Given the description of an element on the screen output the (x, y) to click on. 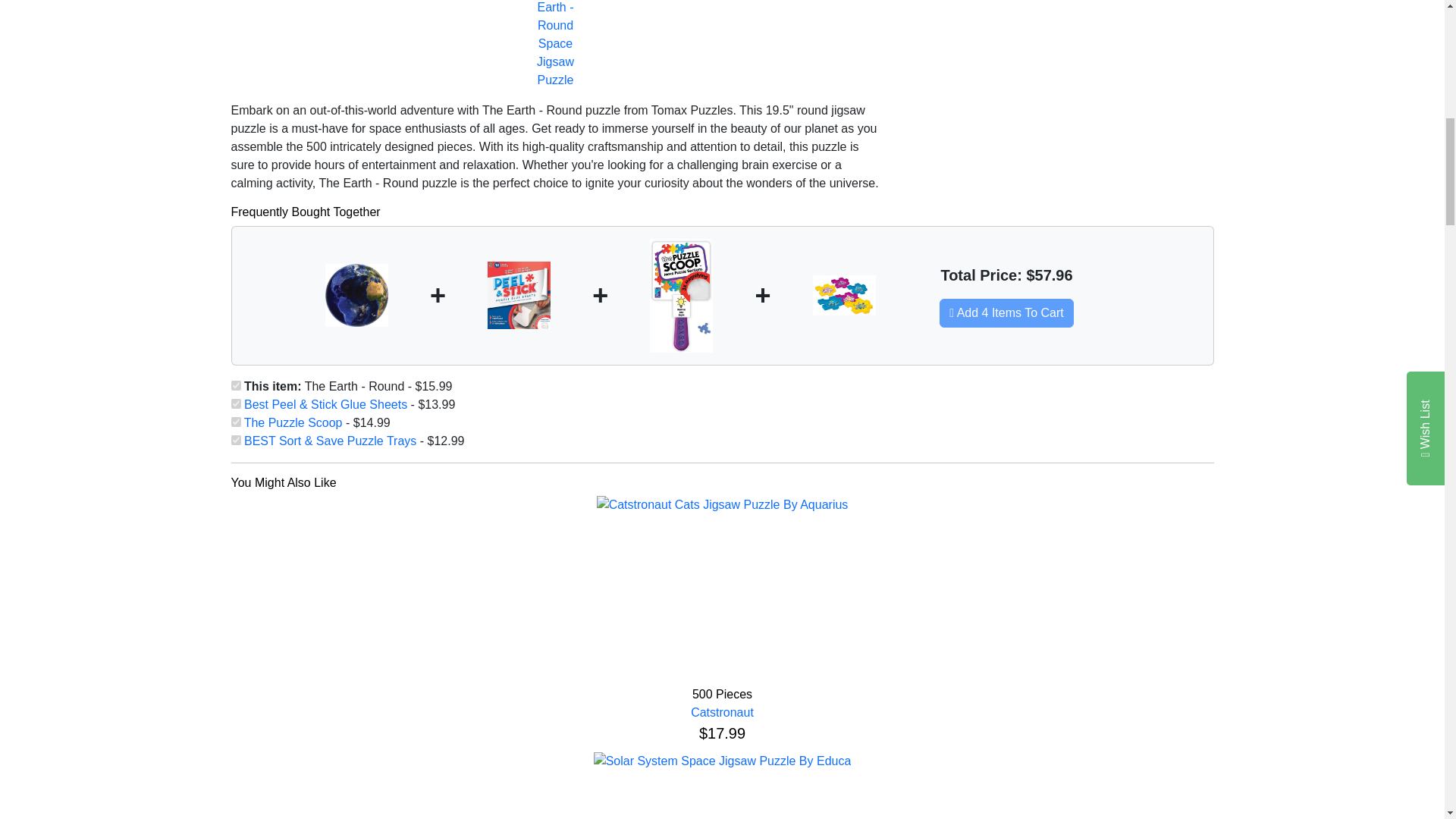
115502 (235, 403)
115504 (235, 439)
Catstronaut Cats Jigsaw Puzzle By Aquarius (722, 505)
Solar System Space Jigsaw Puzzle By Educa (722, 761)
149193 (235, 385)
145265 (235, 421)
